Given the description of an element on the screen output the (x, y) to click on. 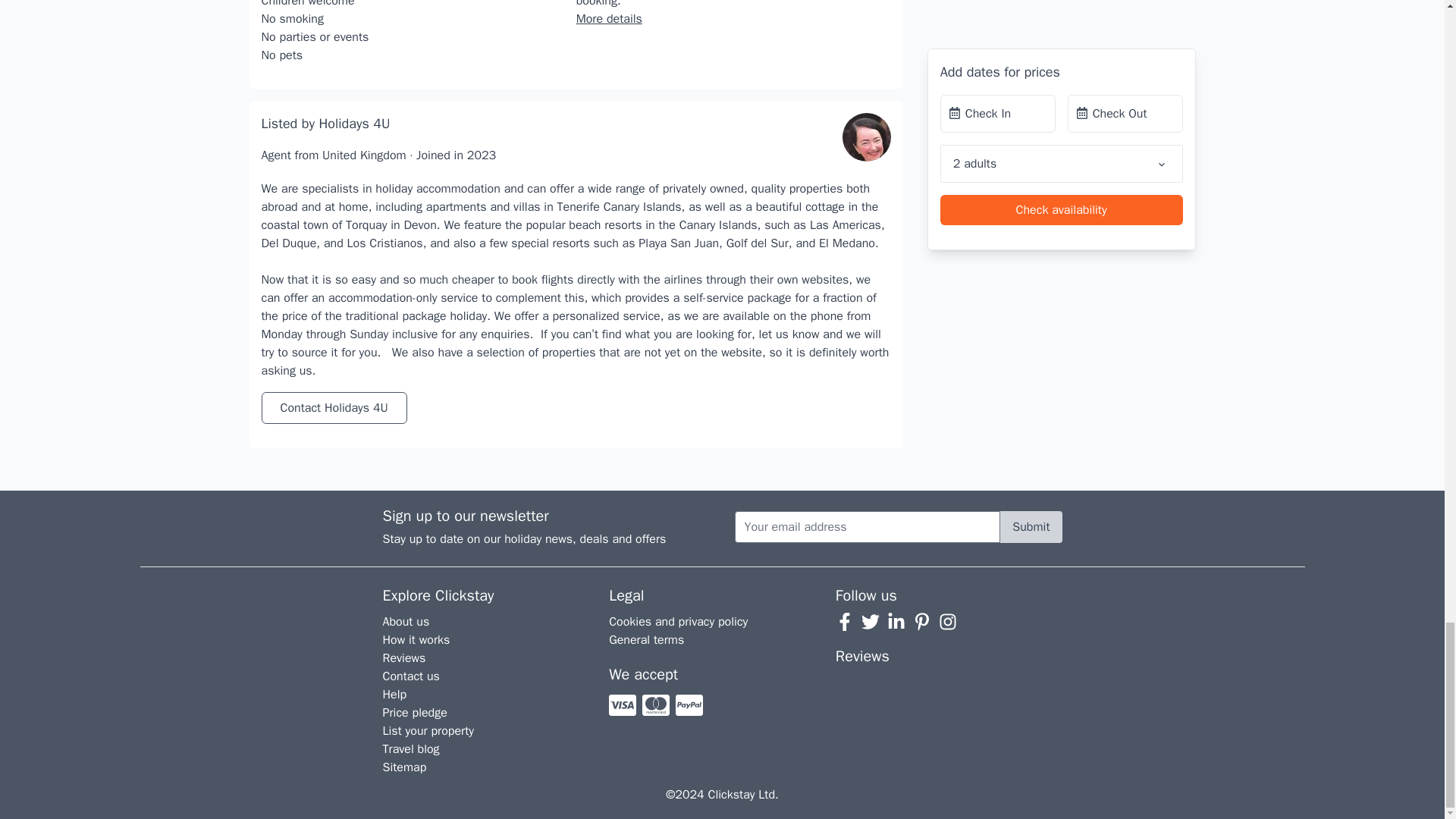
More details (609, 18)
